Given the description of an element on the screen output the (x, y) to click on. 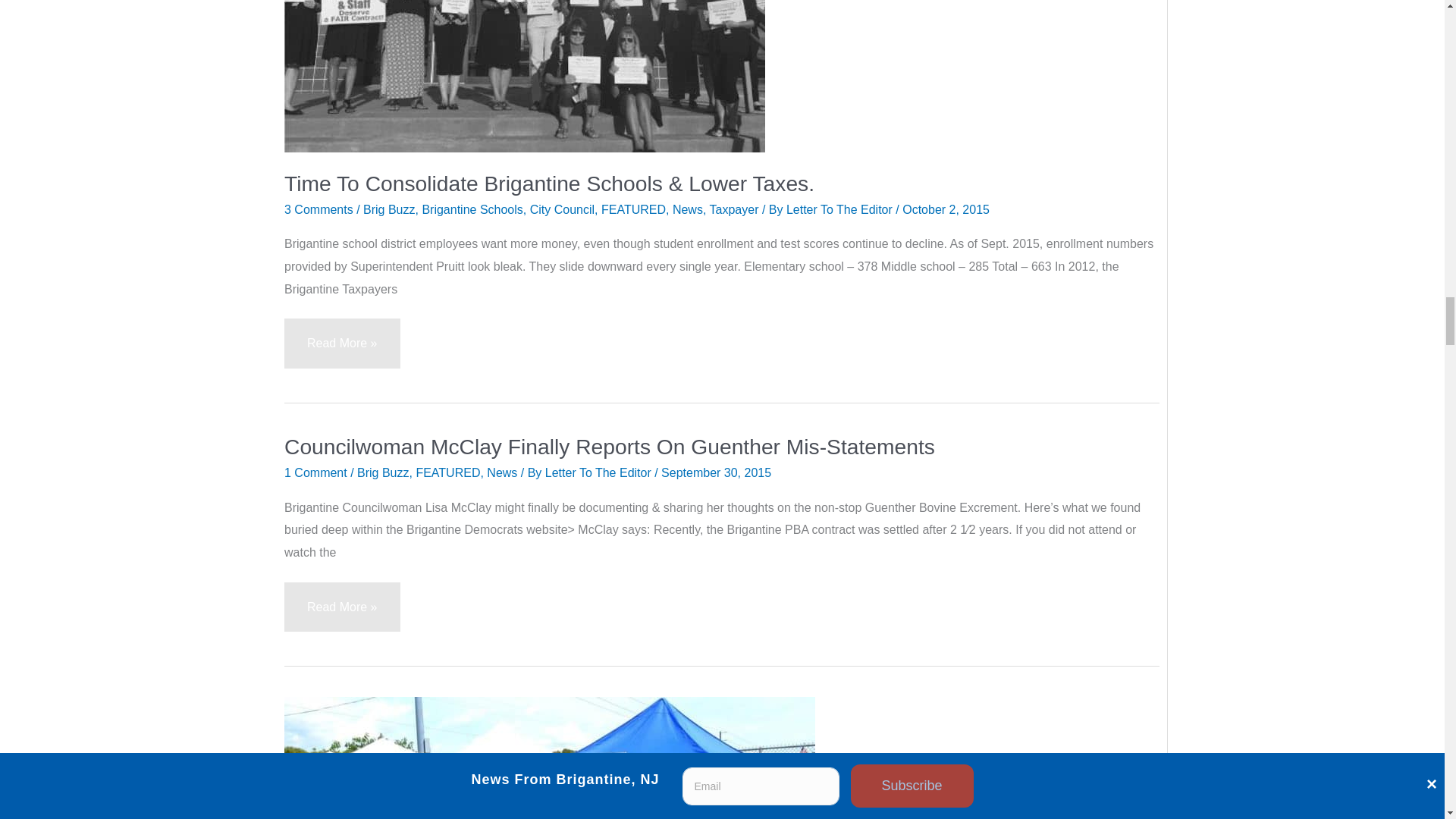
View all posts by Letter To The Editor (598, 472)
View all posts by Letter To The Editor (840, 209)
